Given the description of an element on the screen output the (x, y) to click on. 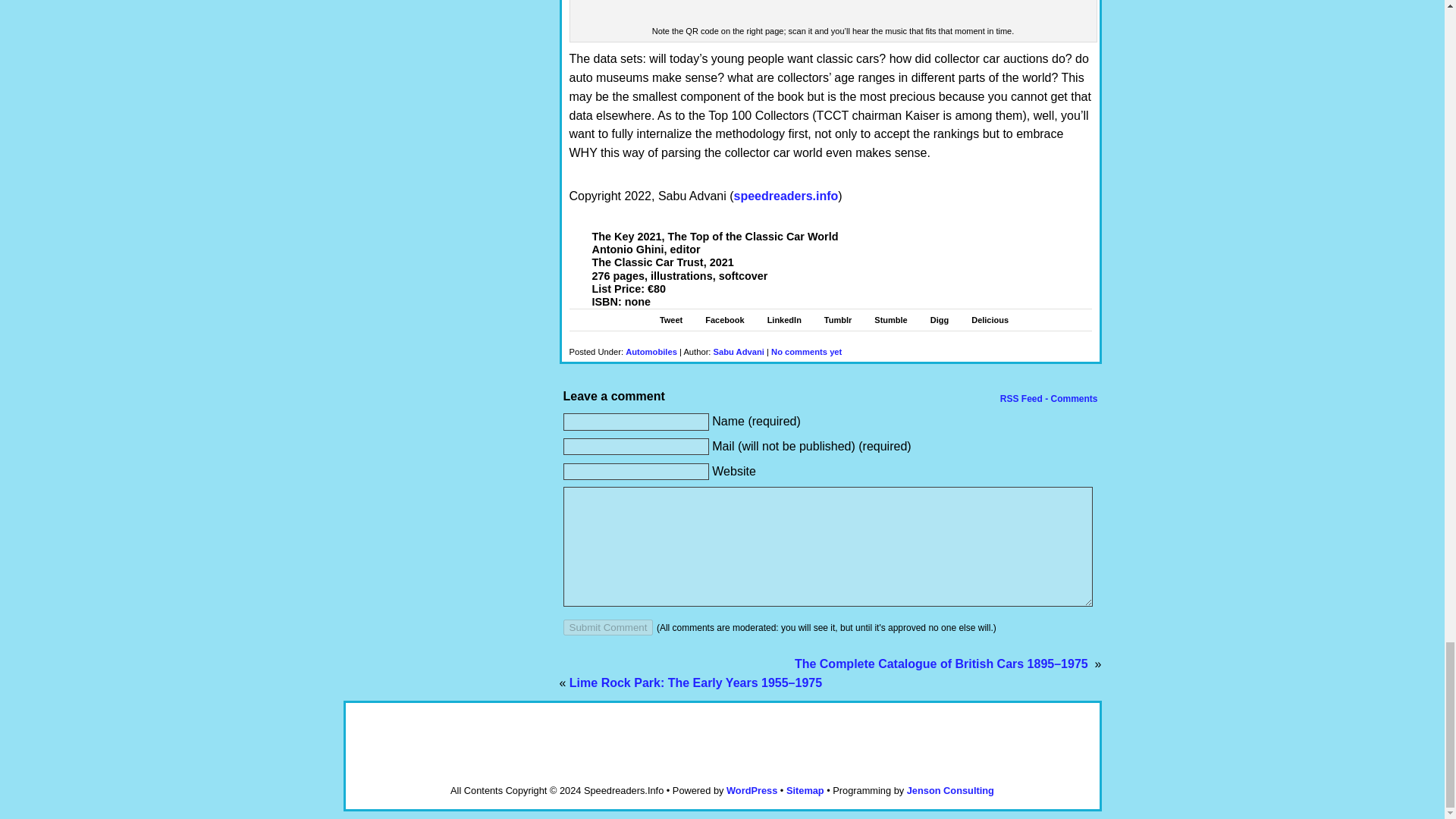
Tumblr (837, 319)
Facebook (724, 319)
Delicious (990, 319)
Share on Facebook (724, 319)
Automobiles (651, 351)
LinkedIn (784, 319)
speedreaders.info (785, 195)
Submit Comment (607, 627)
Sabu Advani (738, 351)
Stumble (891, 319)
No comments yet (806, 351)
Tweet (670, 319)
Share on StumbleUpon (891, 319)
Digg (939, 319)
Share on LinkedIn (784, 319)
